Given the description of an element on the screen output the (x, y) to click on. 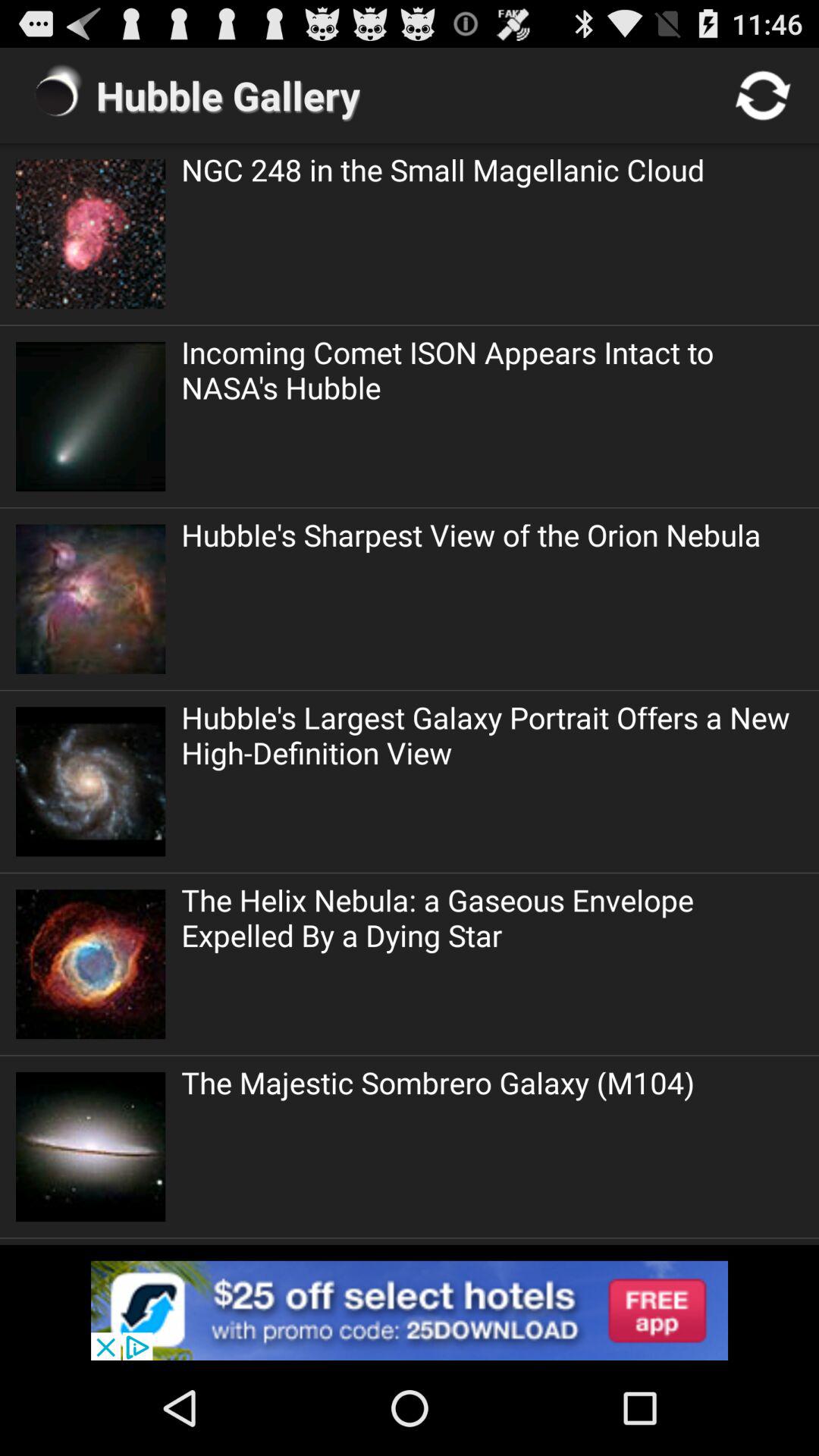
go to advertisement website (409, 1310)
